Given the description of an element on the screen output the (x, y) to click on. 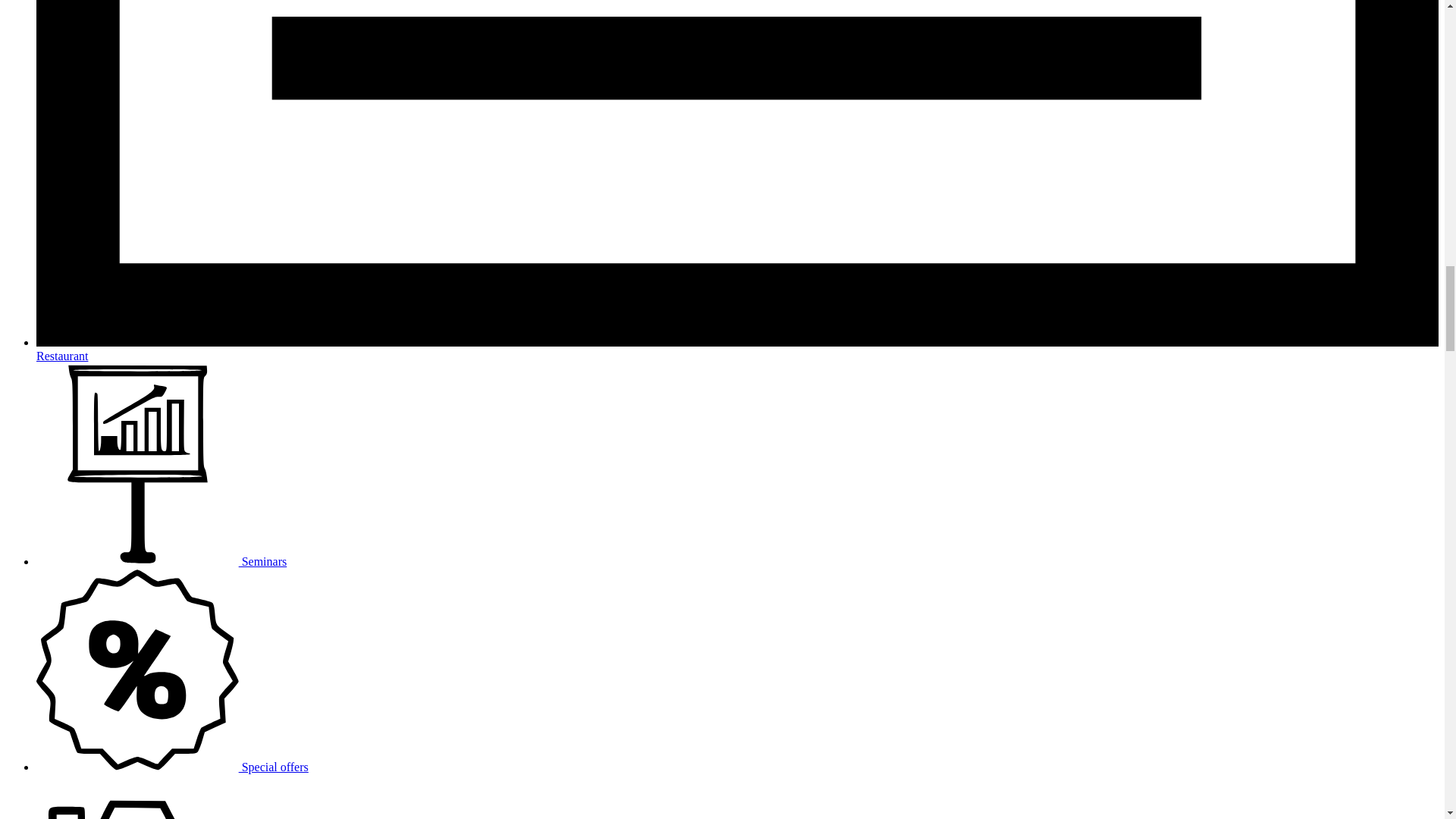
Special offers (172, 766)
Seminars (161, 561)
Special offers (172, 766)
Seminars (161, 561)
